Given the description of an element on the screen output the (x, y) to click on. 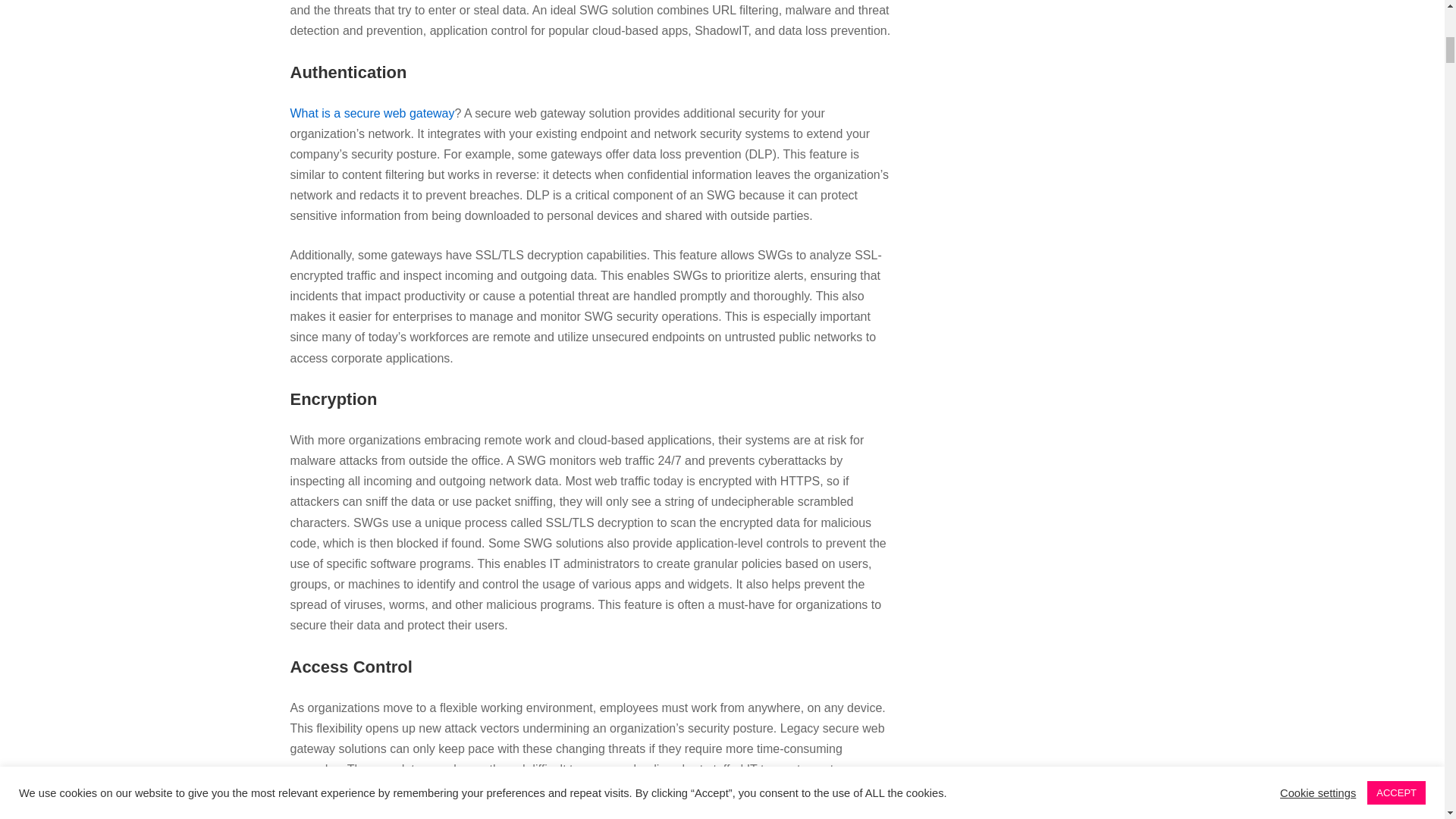
data loss (360, 810)
What is a secure web gateway (371, 112)
